Given the description of an element on the screen output the (x, y) to click on. 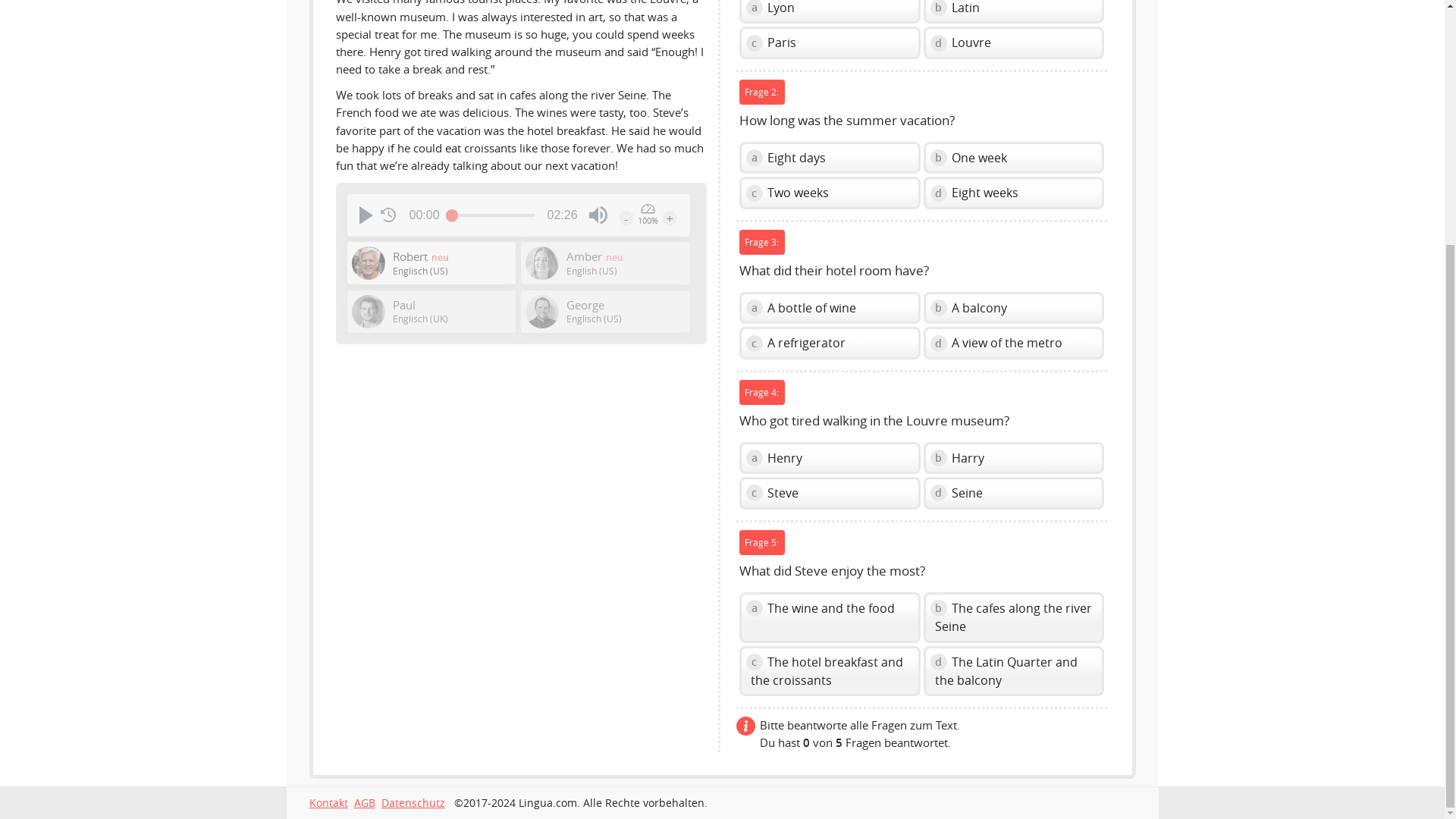
Kontakt (327, 802)
Datenschutz (412, 802)
Open Volume Controls (598, 215)
AGB (363, 802)
